Given the description of an element on the screen output the (x, y) to click on. 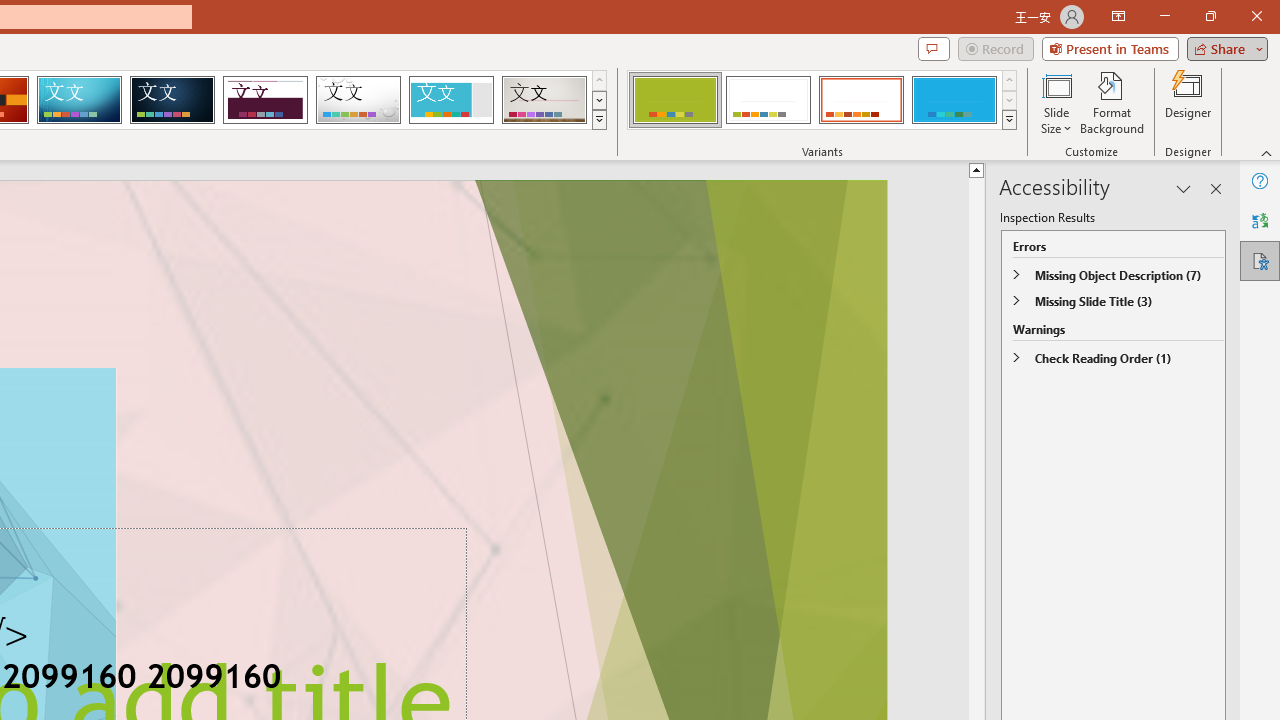
Damask (171, 100)
Basis Variant 3 (861, 100)
Droplet (358, 100)
Basis Variant 1 (674, 100)
